Given the description of an element on the screen output the (x, y) to click on. 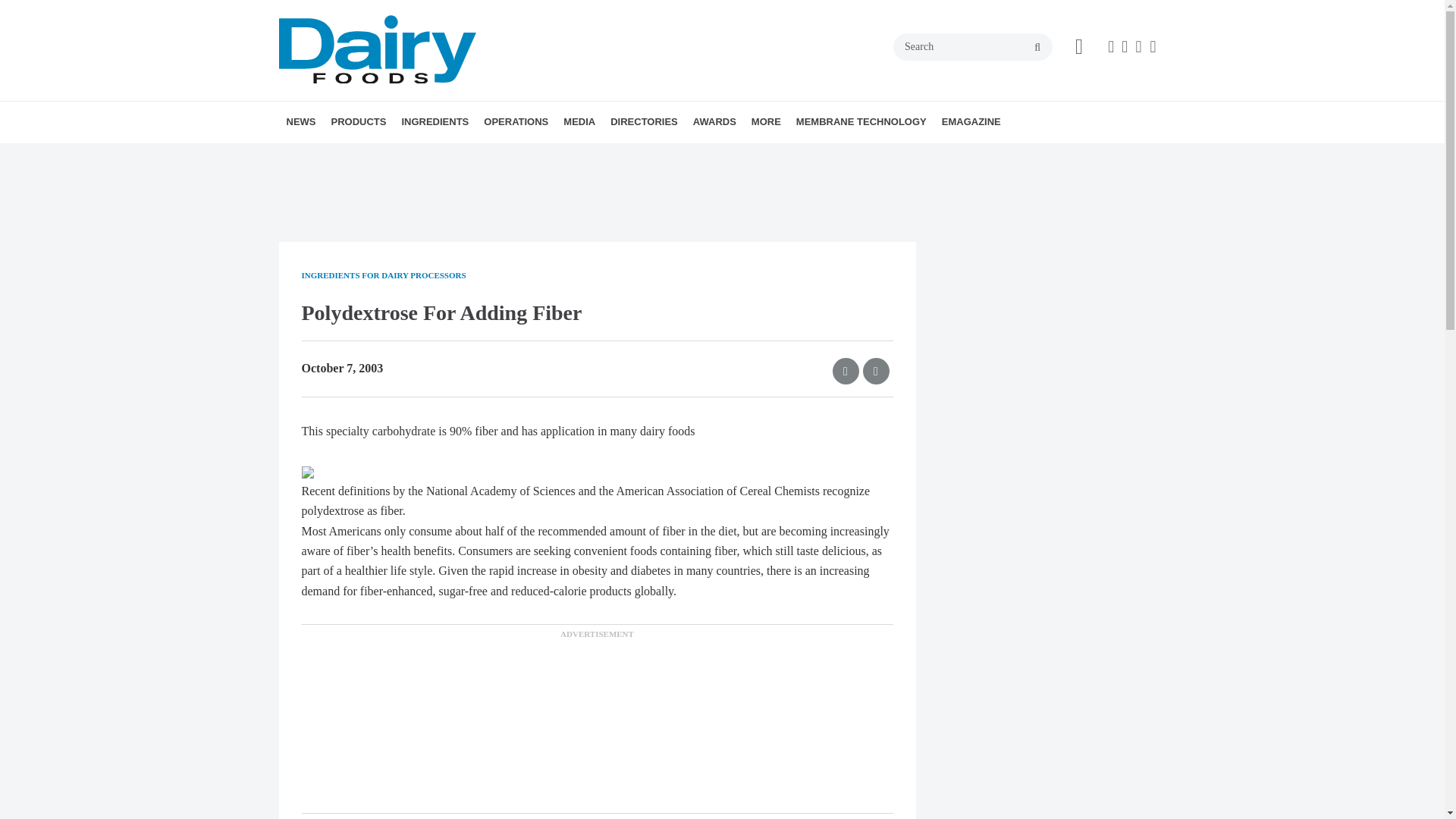
INCLUSIONS (519, 155)
FIBER (507, 155)
COCOA (488, 155)
MILK (449, 155)
Search (972, 46)
PRODUCTS (358, 121)
PREBIOTICS (525, 155)
NEW PRODUCTS (417, 155)
PROBIOTICS (528, 155)
search (1037, 47)
